Given the description of an element on the screen output the (x, y) to click on. 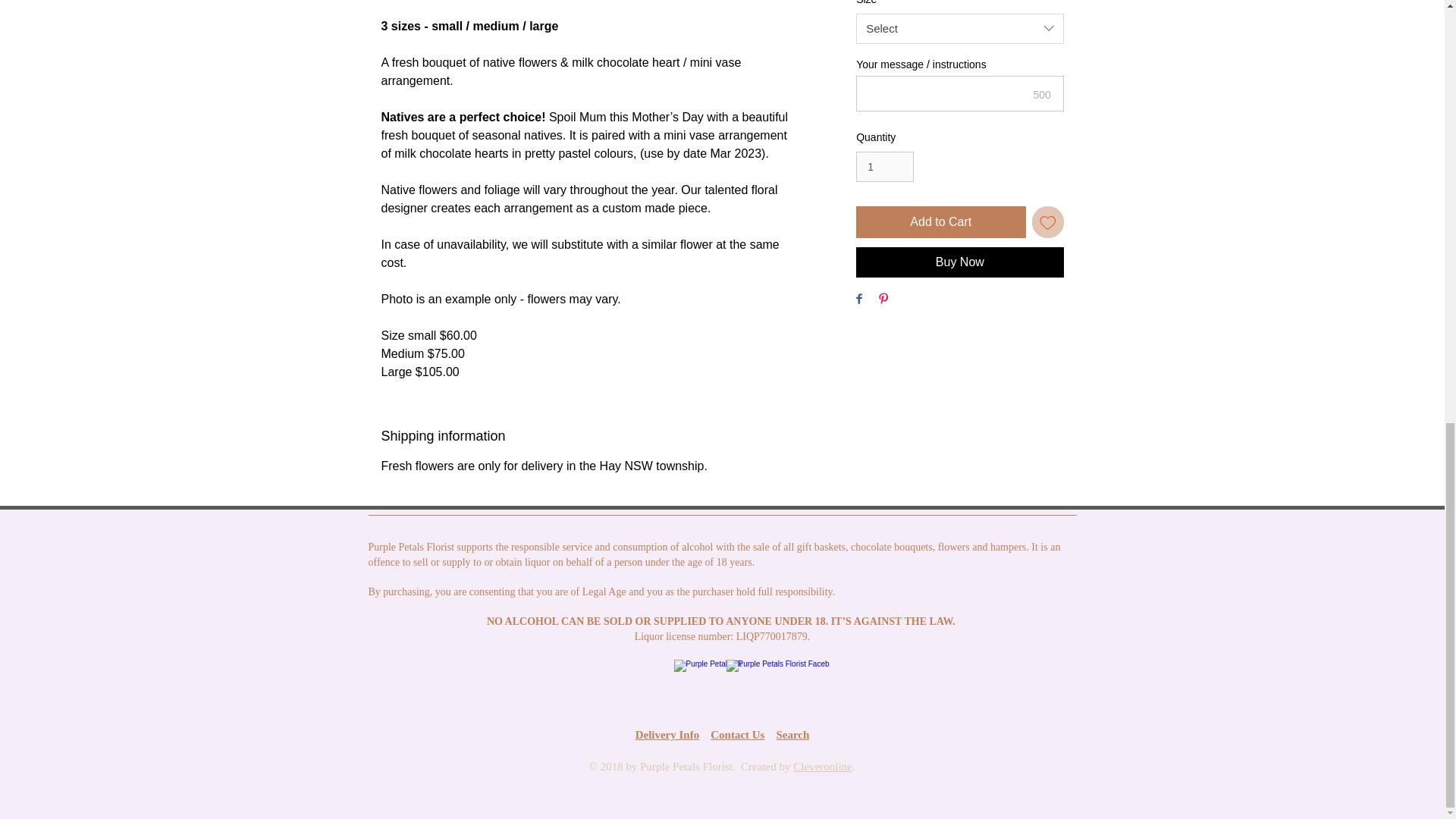
Delivery Info (667, 734)
Select (959, 28)
Cleveronline (822, 766)
Search (792, 734)
1 (885, 166)
Contact Us (737, 734)
Add to Cart (940, 222)
Buy Now (959, 262)
